Given the description of an element on the screen output the (x, y) to click on. 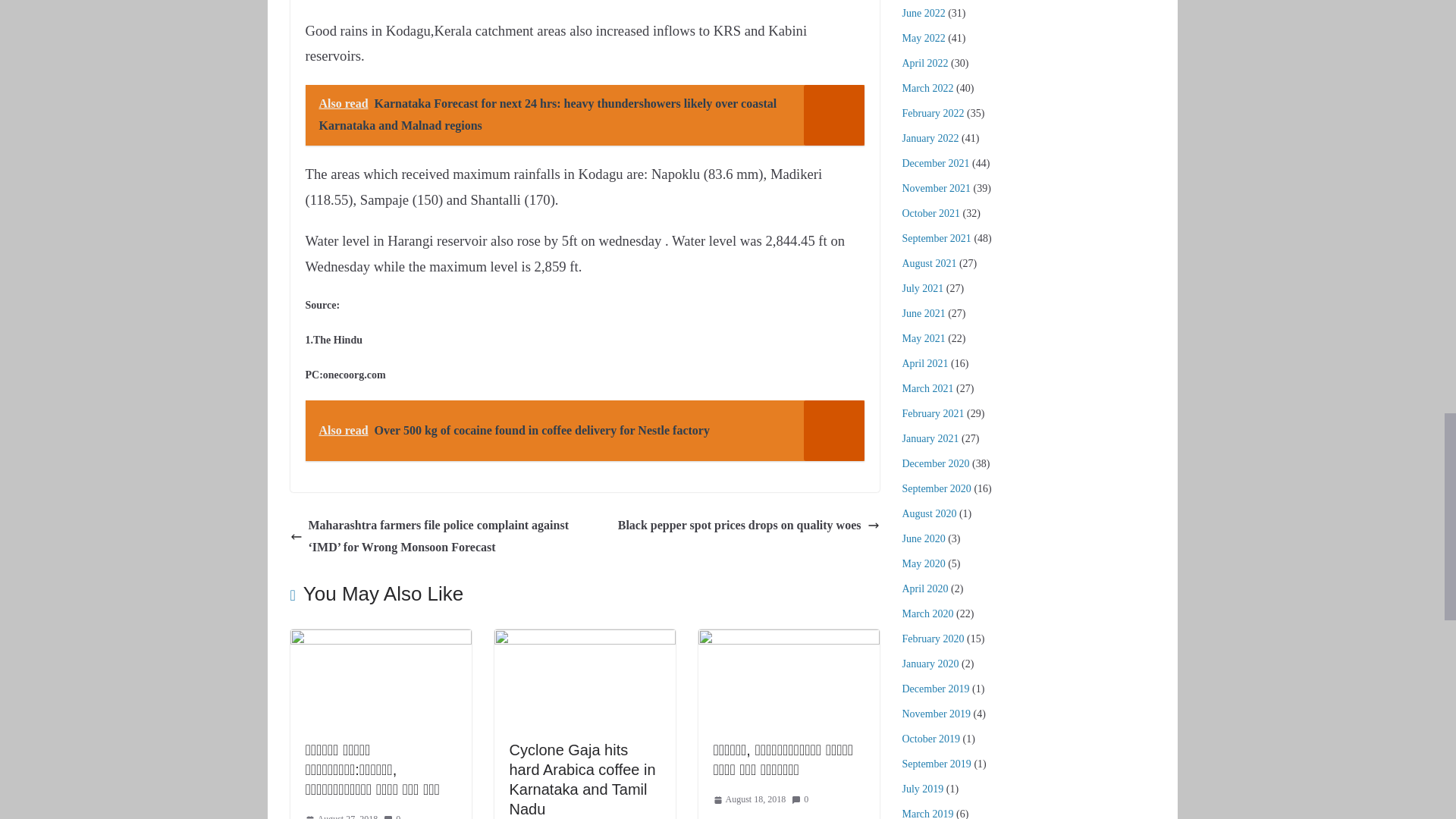
Black pepper spot prices drops on quality woes (748, 526)
8:51 am (340, 815)
